Given the description of an element on the screen output the (x, y) to click on. 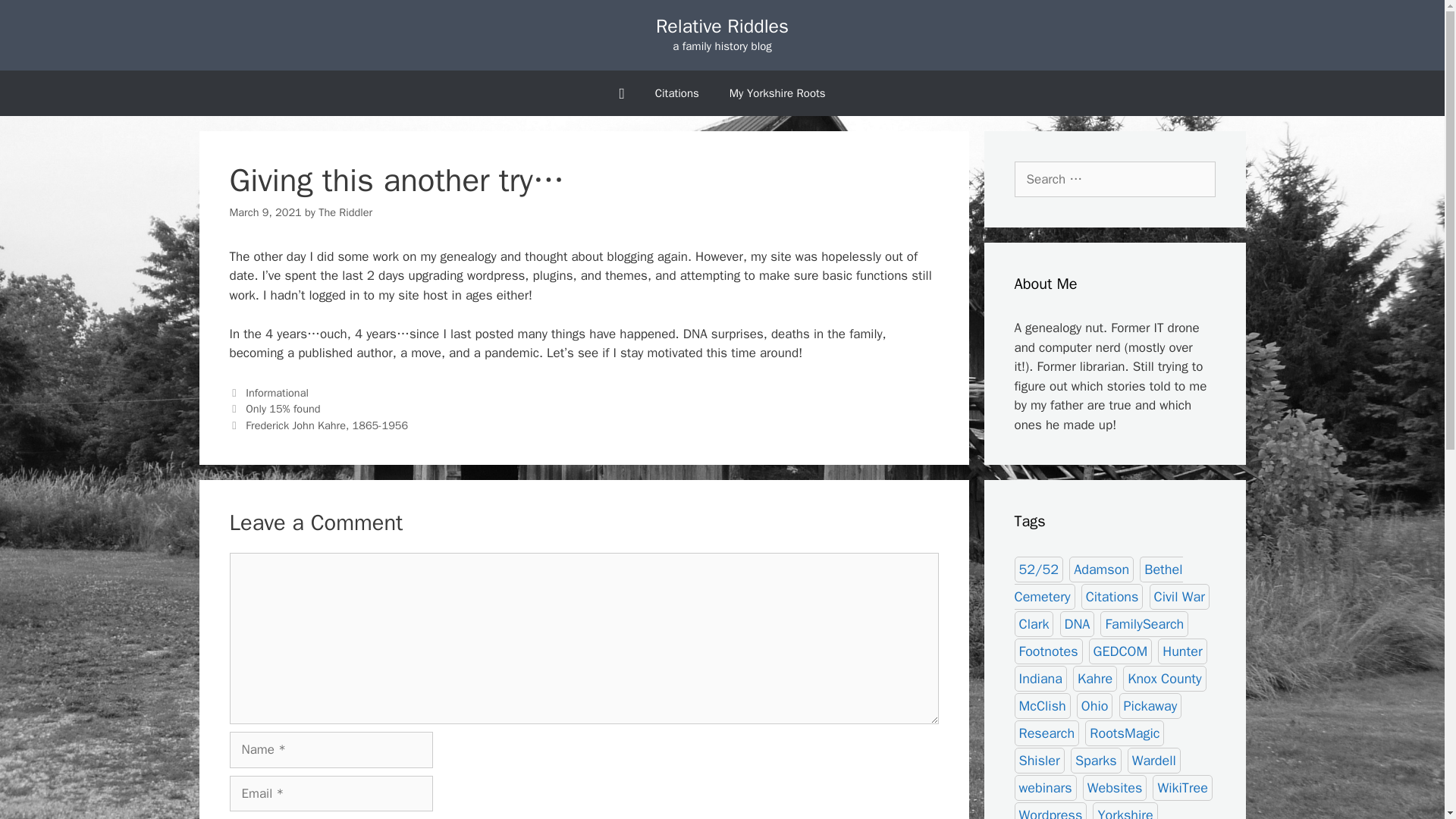
Wardell (1153, 760)
View all posts by The Riddler (345, 212)
Search (35, 18)
RootsMagic (1123, 733)
The Riddler (345, 212)
Adamson (1101, 569)
WikiTree (1182, 787)
Footnotes (1048, 651)
DNA (1076, 623)
McClish (1042, 705)
GEDCOM (1121, 651)
Citations (1111, 596)
webinars (1045, 787)
Civil War (1179, 596)
Indiana (1040, 678)
